Given the description of an element on the screen output the (x, y) to click on. 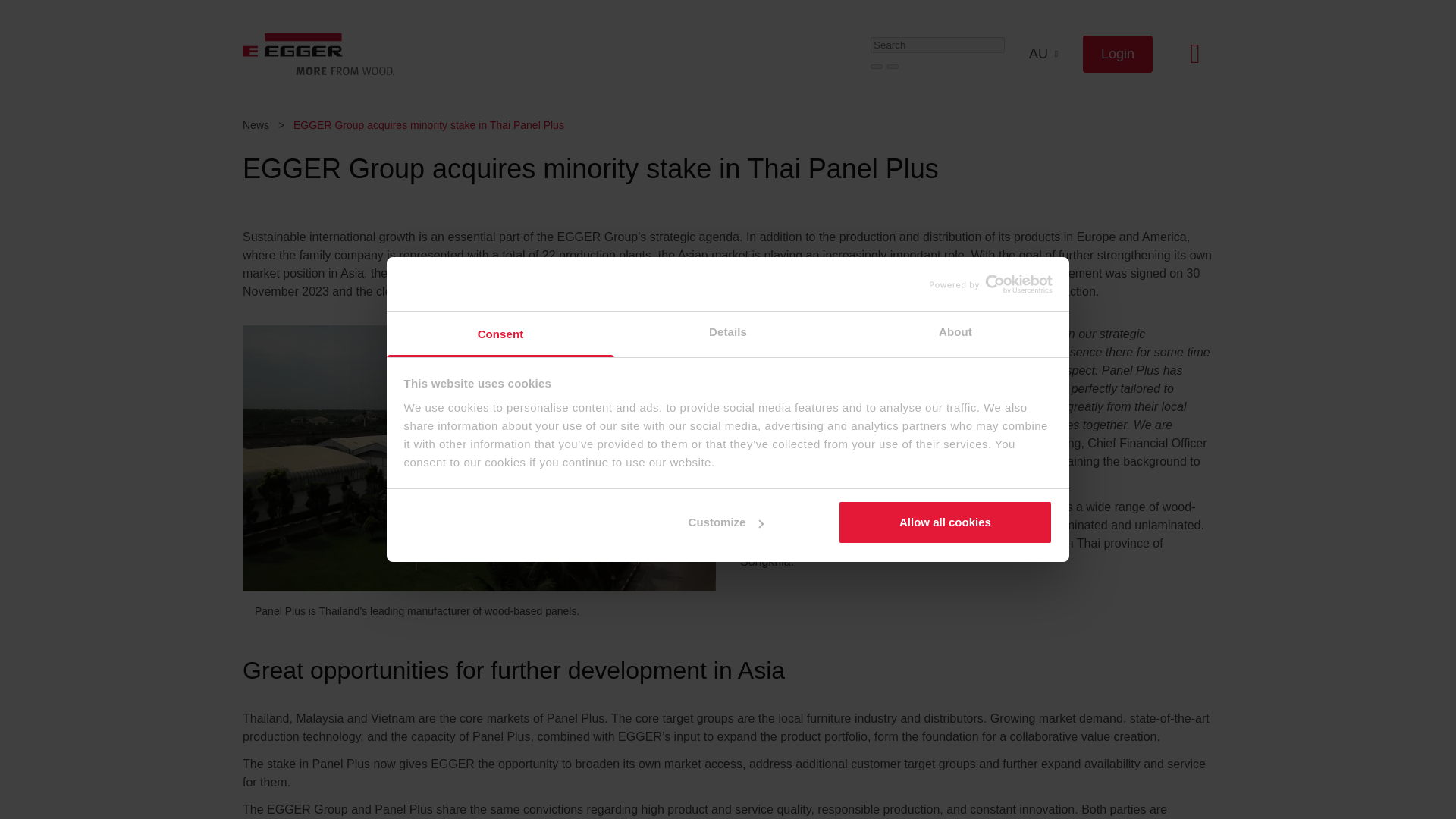
About (954, 334)
Consent (500, 334)
Details (727, 334)
